Given the description of an element on the screen output the (x, y) to click on. 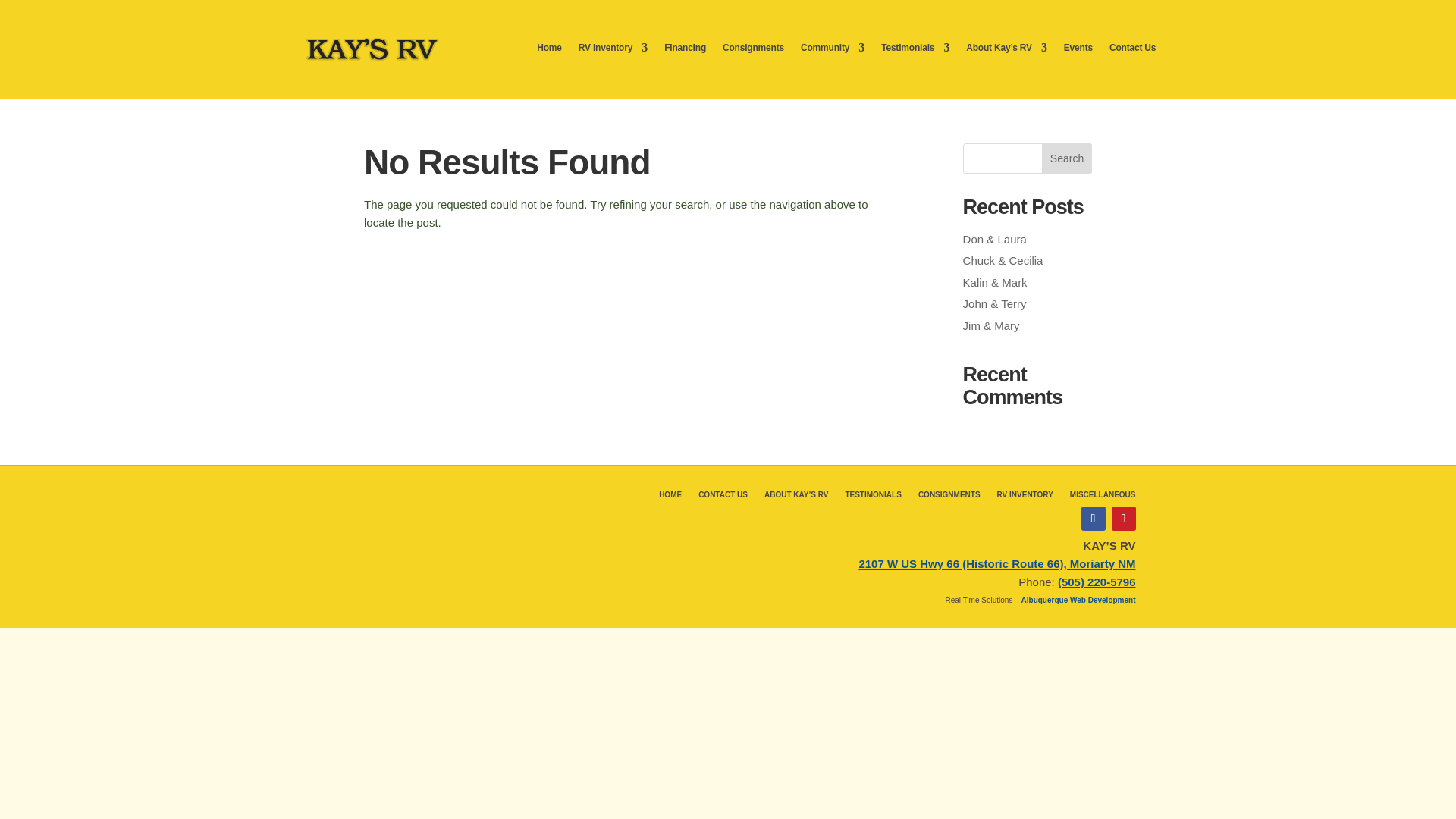
Search (1067, 158)
RV Inventory (612, 47)
Follow on Facebook (1093, 518)
Follow on Pinterest (1123, 518)
logo (372, 49)
Home (549, 47)
link to google maps location for Kay's RV (997, 563)
